Given the description of an element on the screen output the (x, y) to click on. 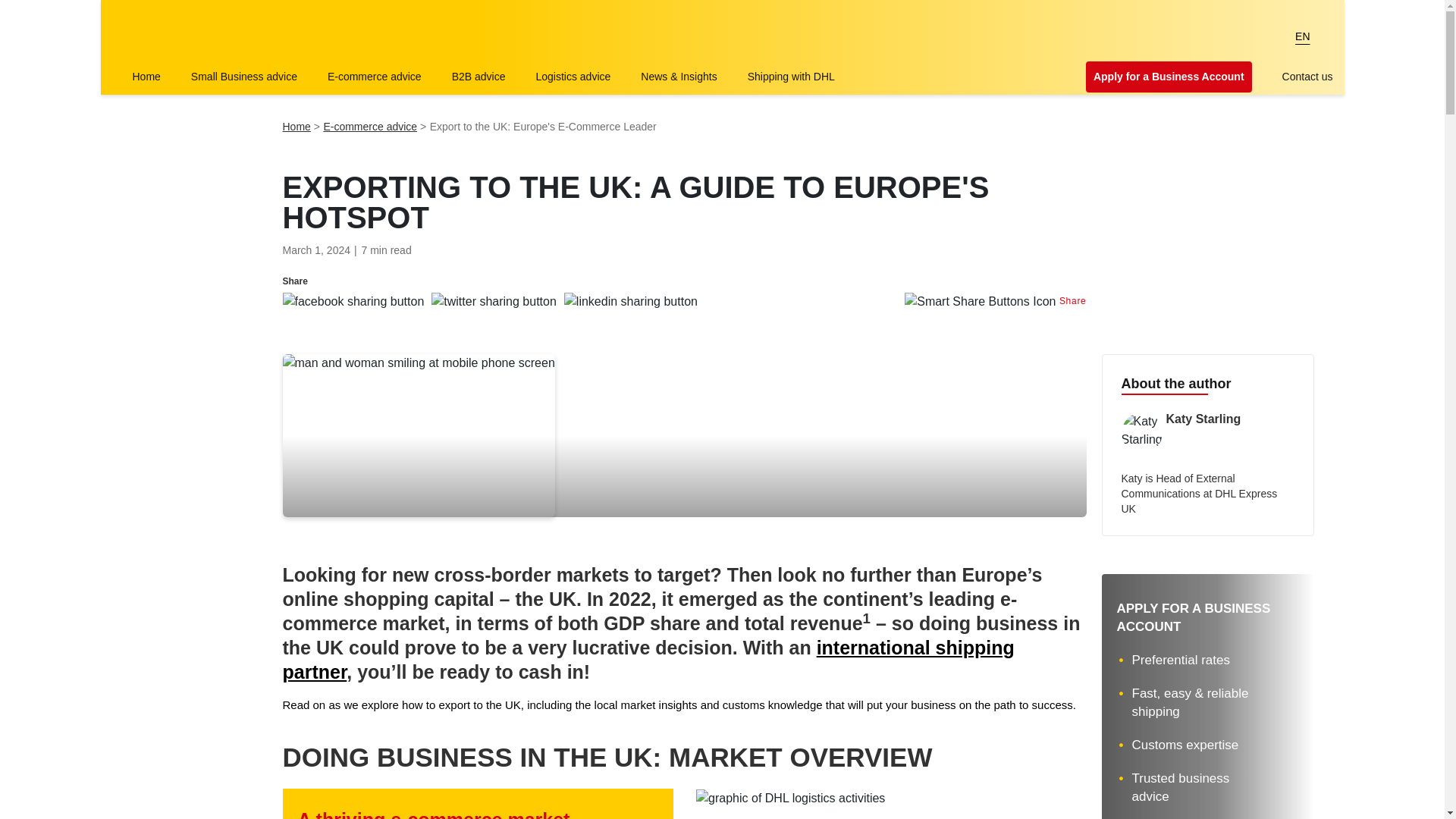
Apply for a Business Account (1169, 76)
EN (1301, 36)
